Given the description of an element on the screen output the (x, y) to click on. 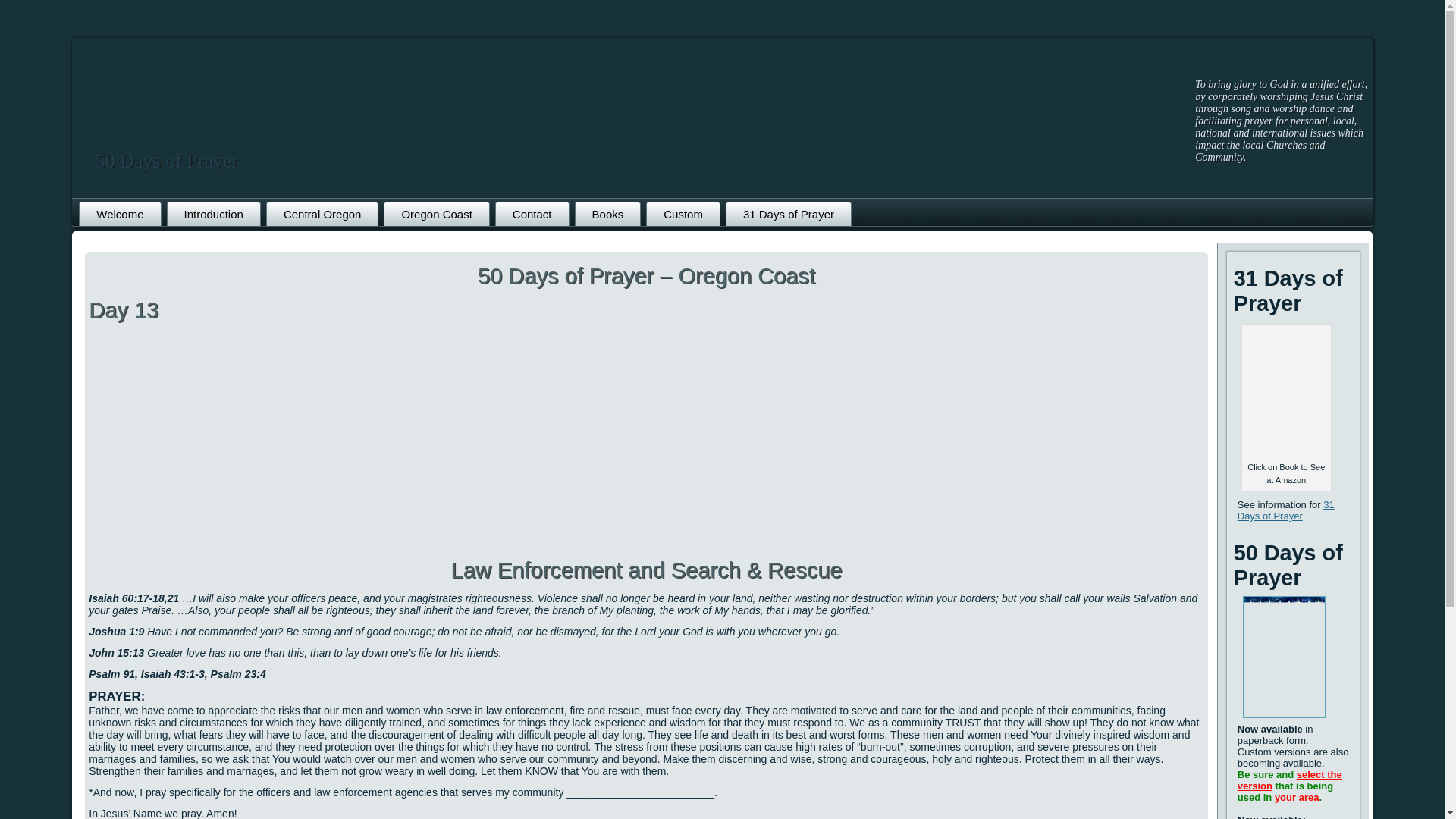
Oregon Coast (436, 213)
Custom (683, 213)
31 Days of Prayer (1286, 509)
Contact (532, 213)
Introduction (213, 213)
Custom (683, 213)
Introduction (213, 213)
Welcome (119, 213)
Books (608, 213)
Contact (532, 213)
Welcome (119, 213)
31 Days of Prayer (788, 213)
Central Oregon (322, 213)
31 Days of Prayer (788, 213)
Books (608, 213)
